Given the description of an element on the screen output the (x, y) to click on. 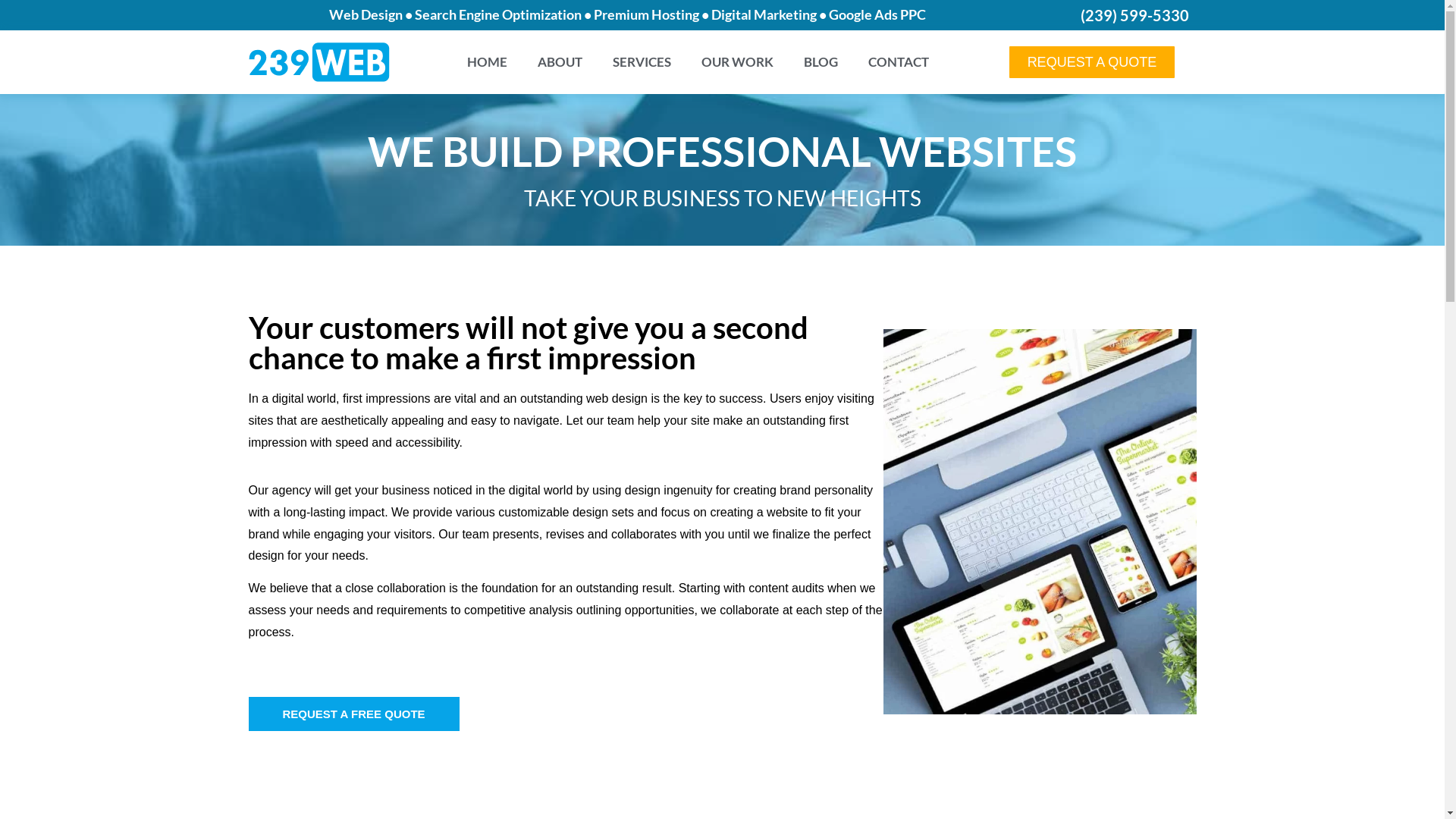
REQUEST A QUOTE Element type: text (1091, 61)
top view blue devices online supermarket Element type: hover (1039, 521)
(239) 599-5330 Element type: text (1133, 15)
CONTACT Element type: text (898, 62)
BLOG Element type: text (820, 62)
OUR WORK Element type: text (737, 62)
HOME Element type: text (486, 62)
ABOUT Element type: text (559, 62)
REQUEST A FREE QUOTE Element type: text (353, 713)
SERVICES Element type: text (641, 62)
